Given the description of an element on the screen output the (x, y) to click on. 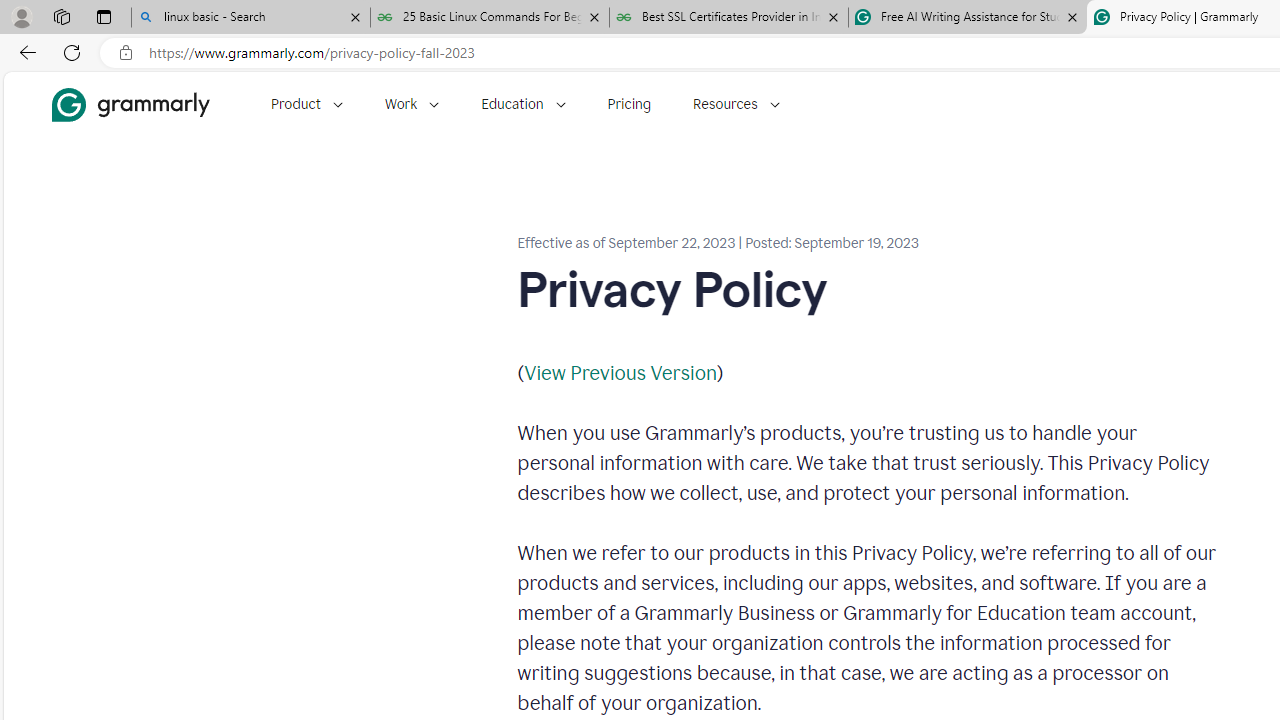
View Previous Version (619, 372)
Free AI Writing Assistance for Students | Grammarly (967, 17)
Education (523, 103)
Work (412, 104)
Pricing (629, 104)
Grammarly Home (130, 104)
Best SSL Certificates Provider in India - GeeksforGeeks (729, 17)
linux basic - Search (250, 17)
